Given the description of an element on the screen output the (x, y) to click on. 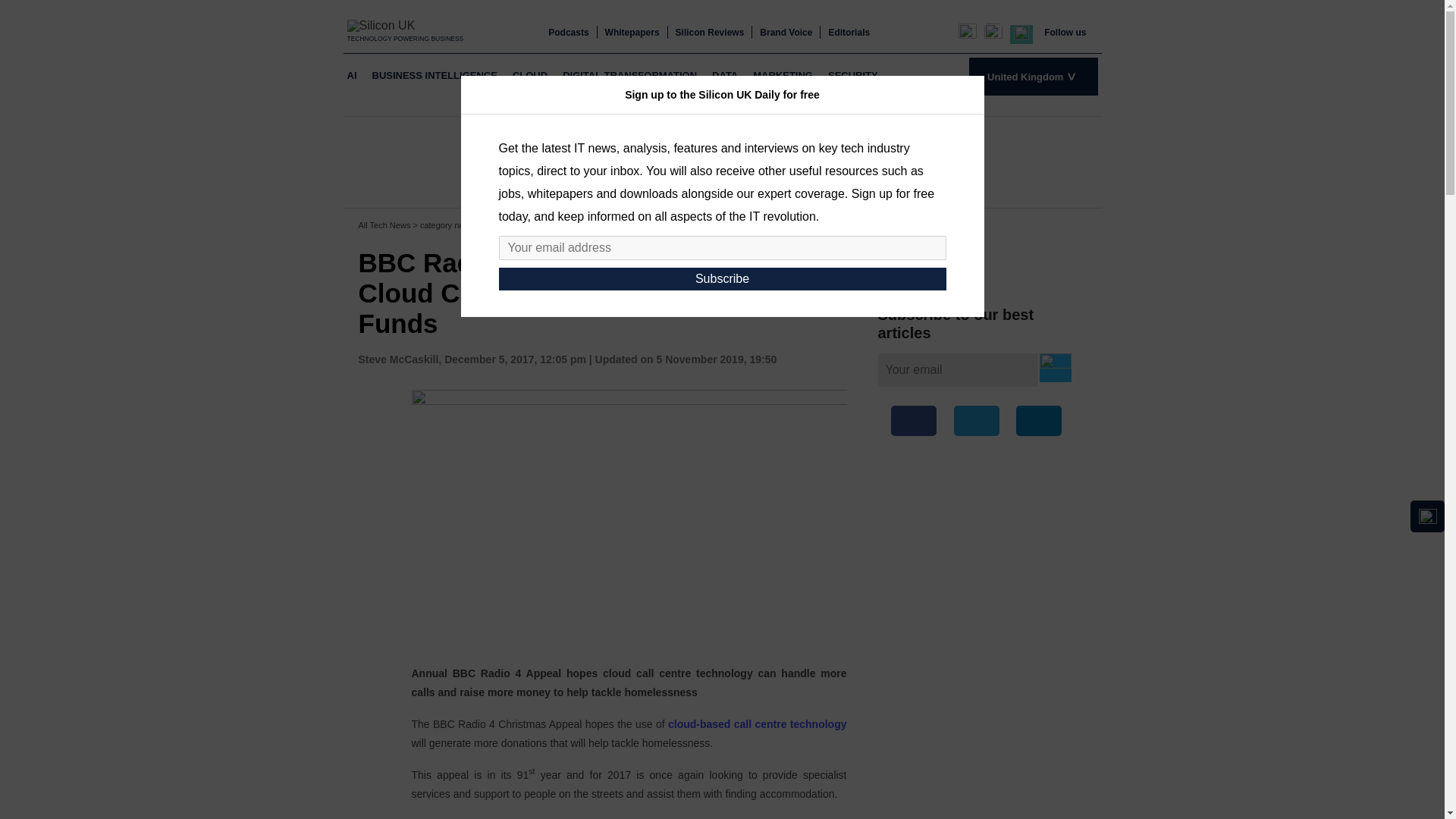
Silicon UK (405, 24)
Editorials (848, 32)
BUSINESS INTELLIGENCE (434, 76)
Brand Voice (786, 32)
Follow us (1064, 32)
SECURITY (853, 76)
CLOUD (529, 76)
Whitepapers (632, 32)
DATA (724, 76)
United Kingdom (1033, 76)
